Given the description of an element on the screen output the (x, y) to click on. 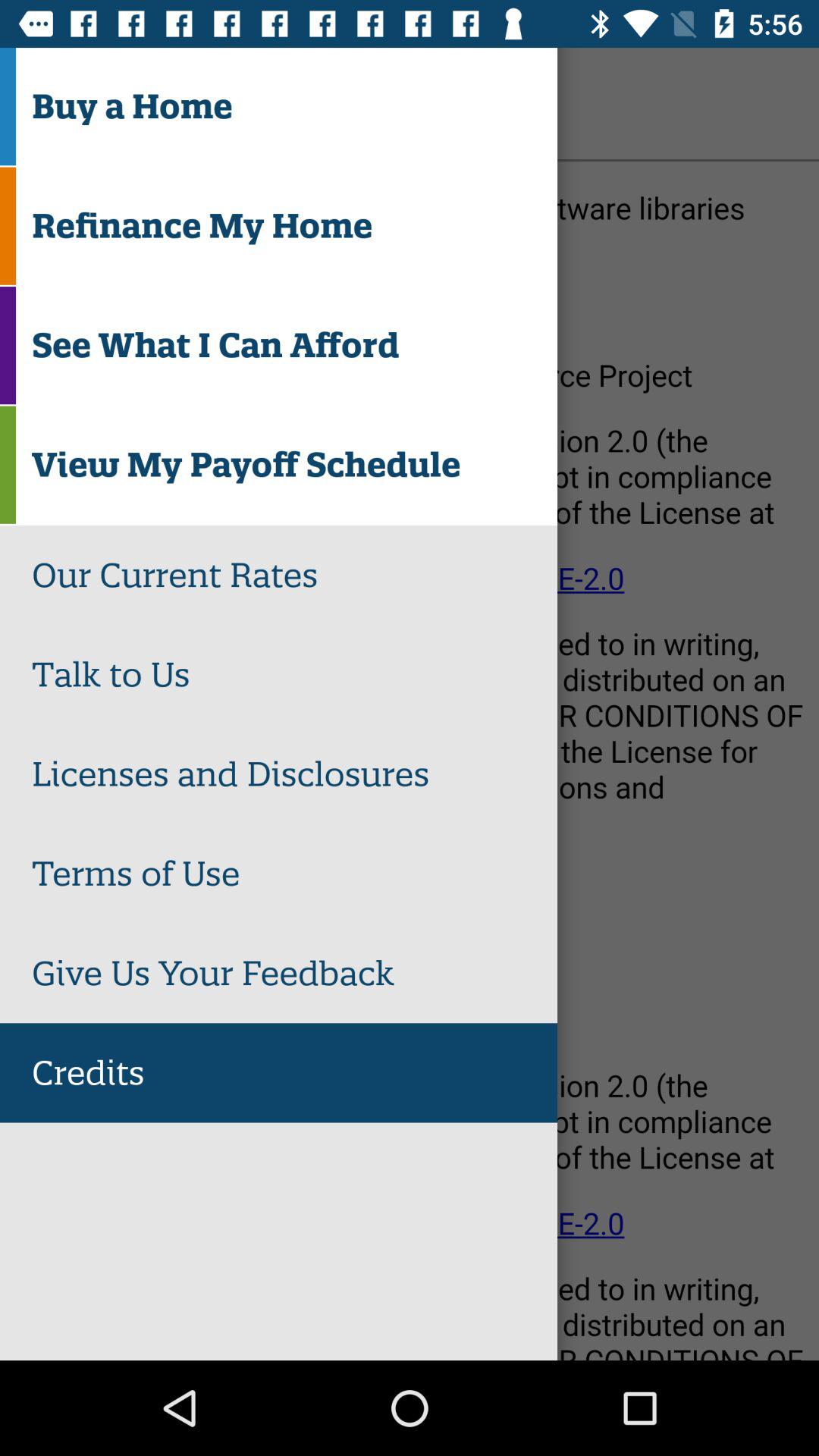
click the refinance my home (294, 225)
